Given the description of an element on the screen output the (x, y) to click on. 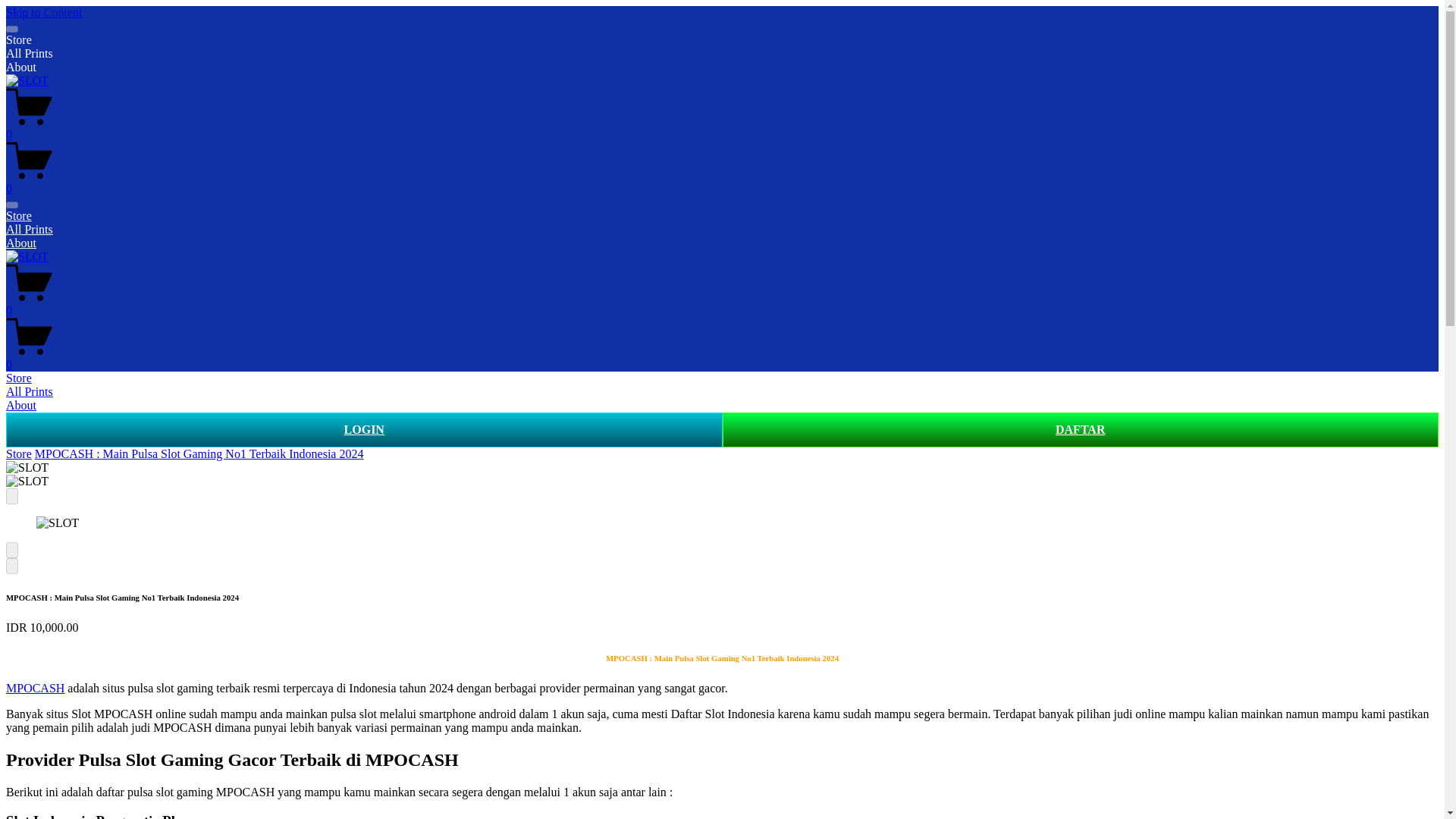
Store (18, 39)
About (20, 242)
Skip to Content (43, 11)
About (20, 66)
Store (18, 453)
LOGIN (363, 429)
All Prints (28, 52)
MPOCASH (34, 687)
All Prints (28, 228)
Store (18, 215)
MPOCASH : Main Pulsa Slot Gaming No1 Terbaik Indonesia 2024 (199, 453)
